Given the description of an element on the screen output the (x, y) to click on. 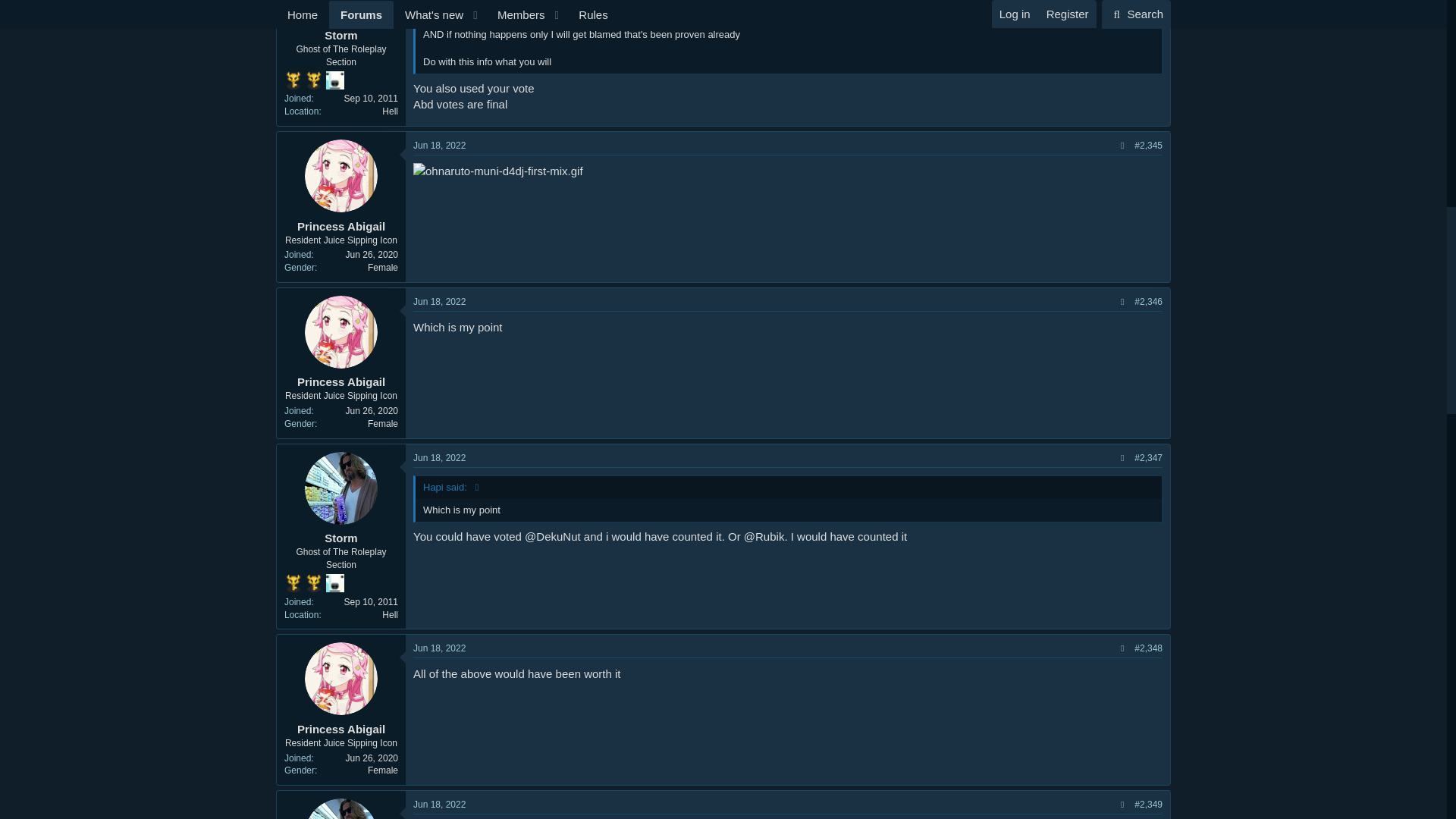
Jun 18, 2022 at 10:12 AM (439, 301)
ohnaruto-muni-d4dj-first-mix.gif (498, 170)
Jun 18, 2022 at 10:12 AM (439, 145)
